Given the description of an element on the screen output the (x, y) to click on. 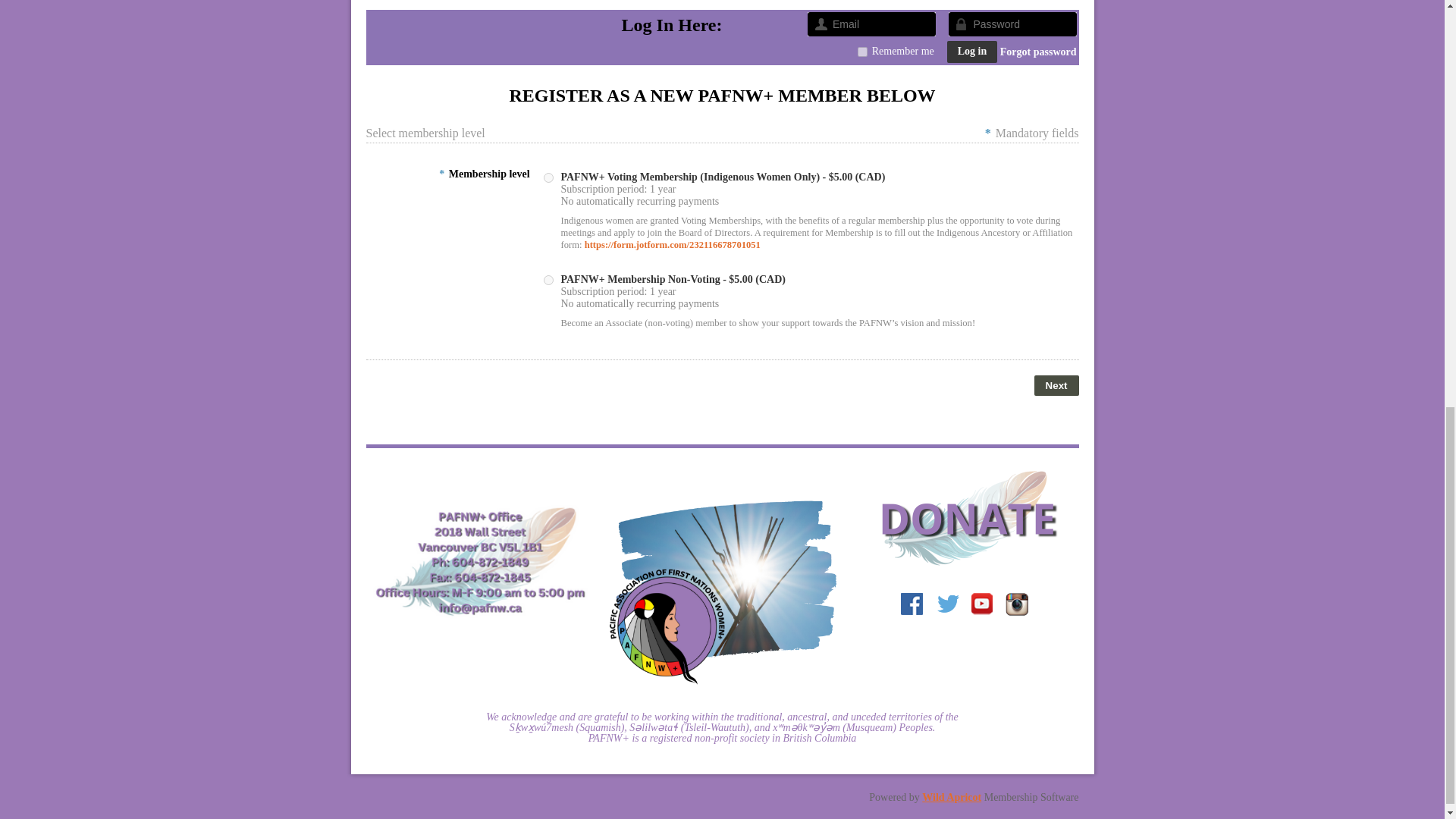
Forgot password (1038, 51)
YouTube (981, 604)
Wild Apricot (951, 797)
Twitter (947, 604)
Next (1055, 385)
Next (1055, 385)
Log in (972, 51)
Instagram (1016, 604)
on (862, 51)
Log in (972, 51)
Facebook (912, 604)
